Given the description of an element on the screen output the (x, y) to click on. 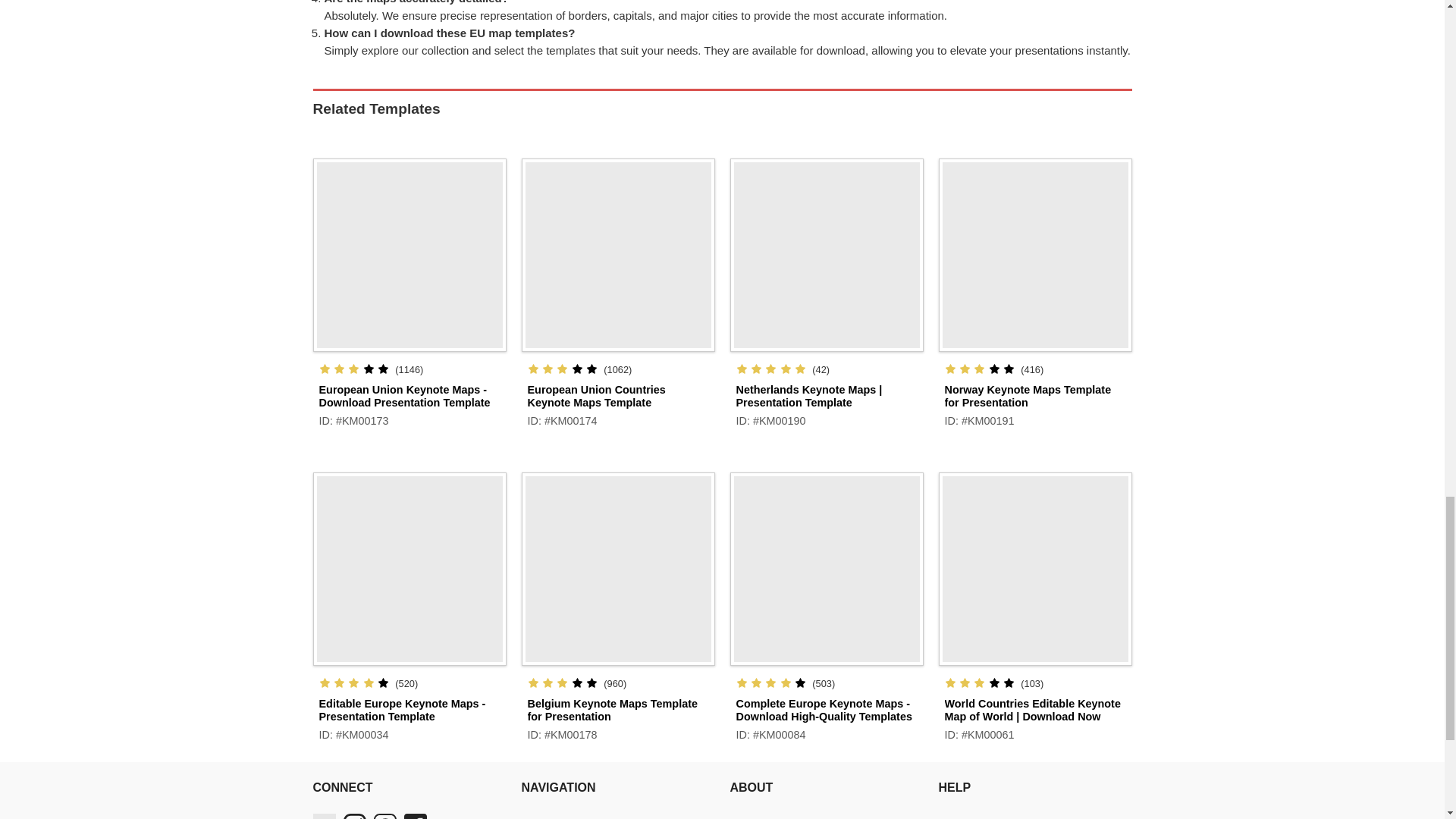
European Union Keynote Maps - Download Presentation Template (403, 396)
3 out of 5 stars (353, 369)
European Union Keynote Maps - Download Presentation Template (409, 249)
European Union Keynote Maps - Download Presentation Template (403, 396)
